Given the description of an element on the screen output the (x, y) to click on. 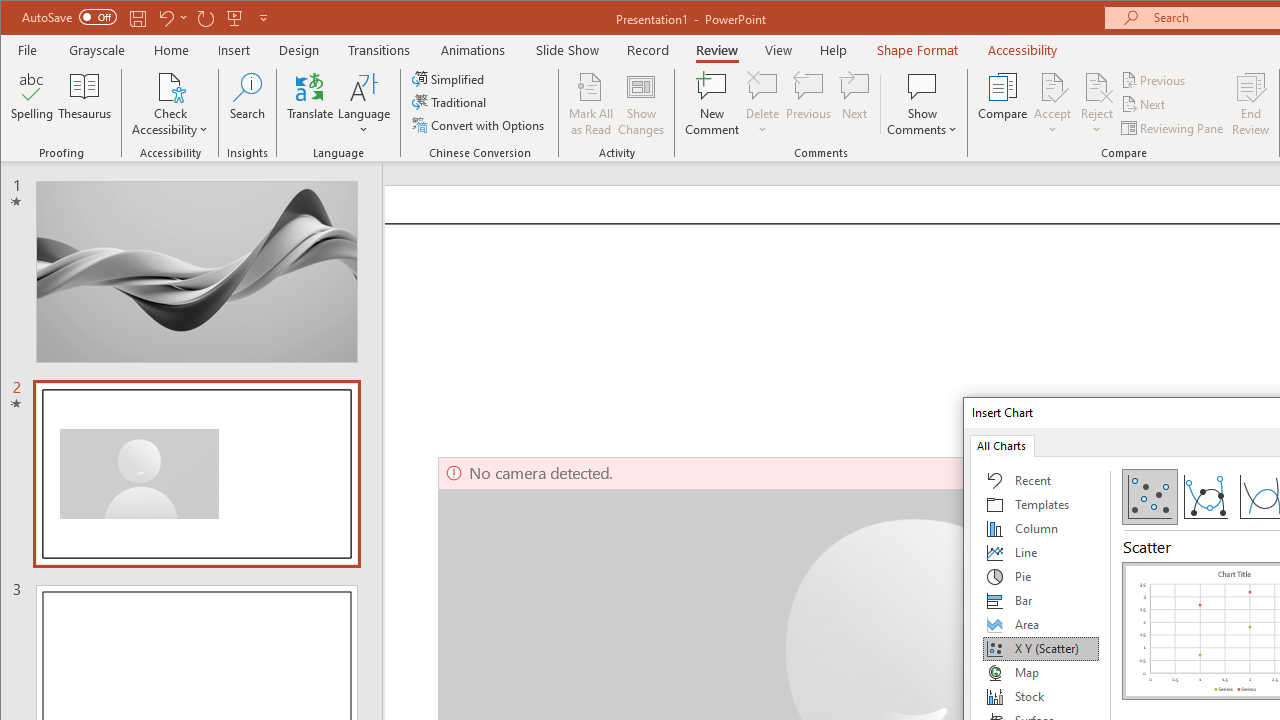
Thesaurus... (84, 104)
Spelling... (32, 104)
Column (1041, 528)
Language (363, 104)
Accept Change (1052, 86)
Check Accessibility (170, 86)
Scatter (1149, 496)
Delete (762, 104)
Show Comments (922, 86)
